Given the description of an element on the screen output the (x, y) to click on. 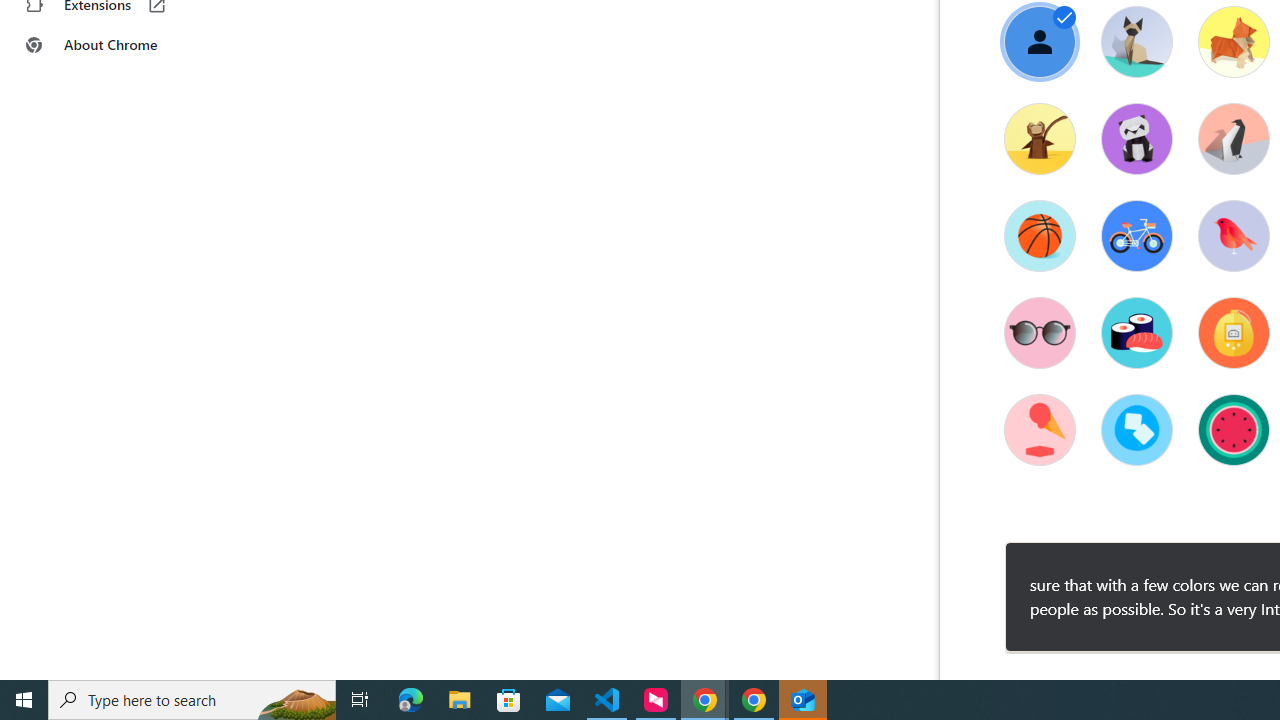
About Chrome (124, 44)
